Given the description of an element on the screen output the (x, y) to click on. 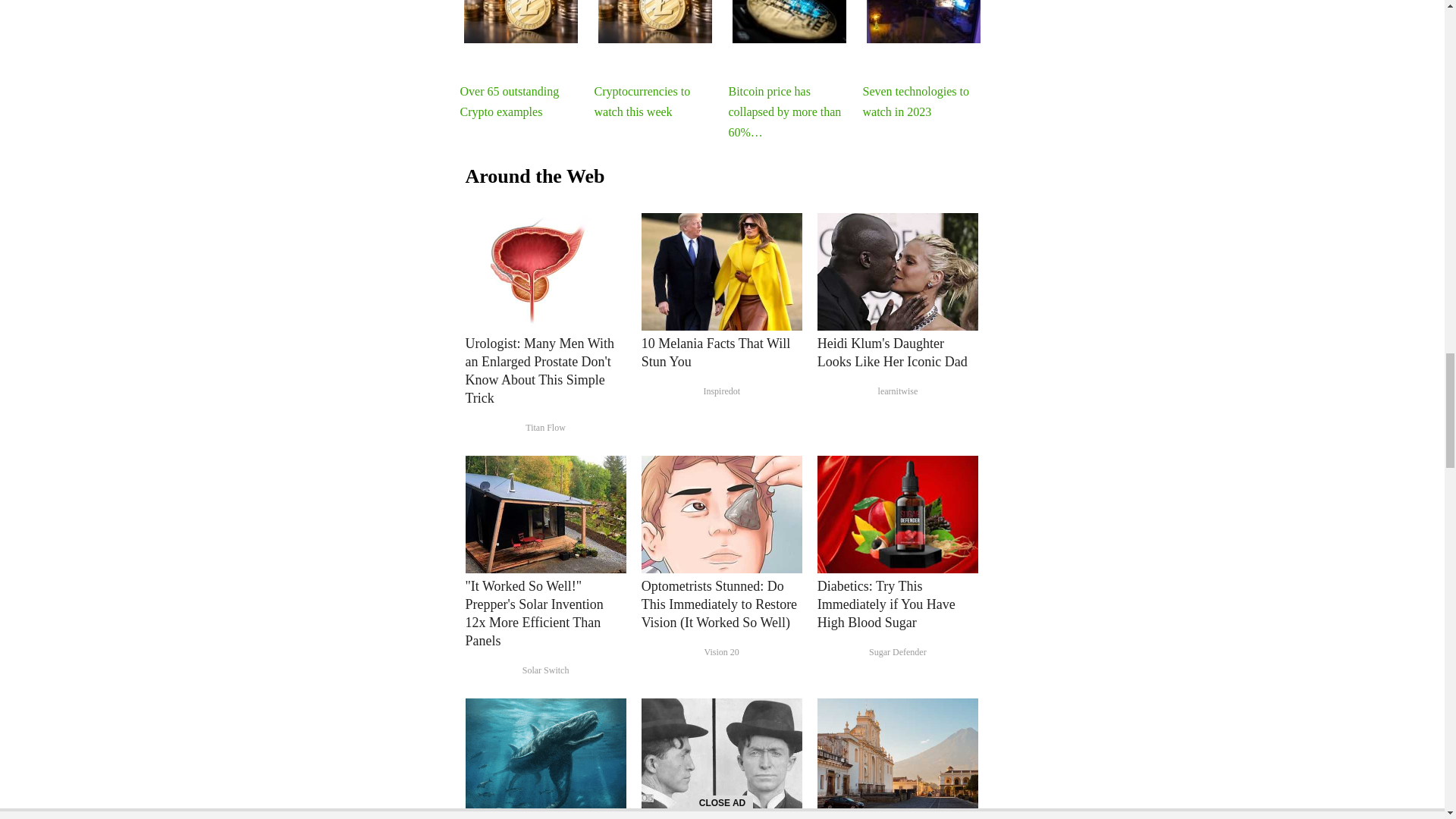
Cryptocurrencies to watch this week (654, 21)
Seven technologies to watch in 2023 (922, 21)
Over 65 outstanding Crypto examples (521, 21)
